Given the description of an element on the screen output the (x, y) to click on. 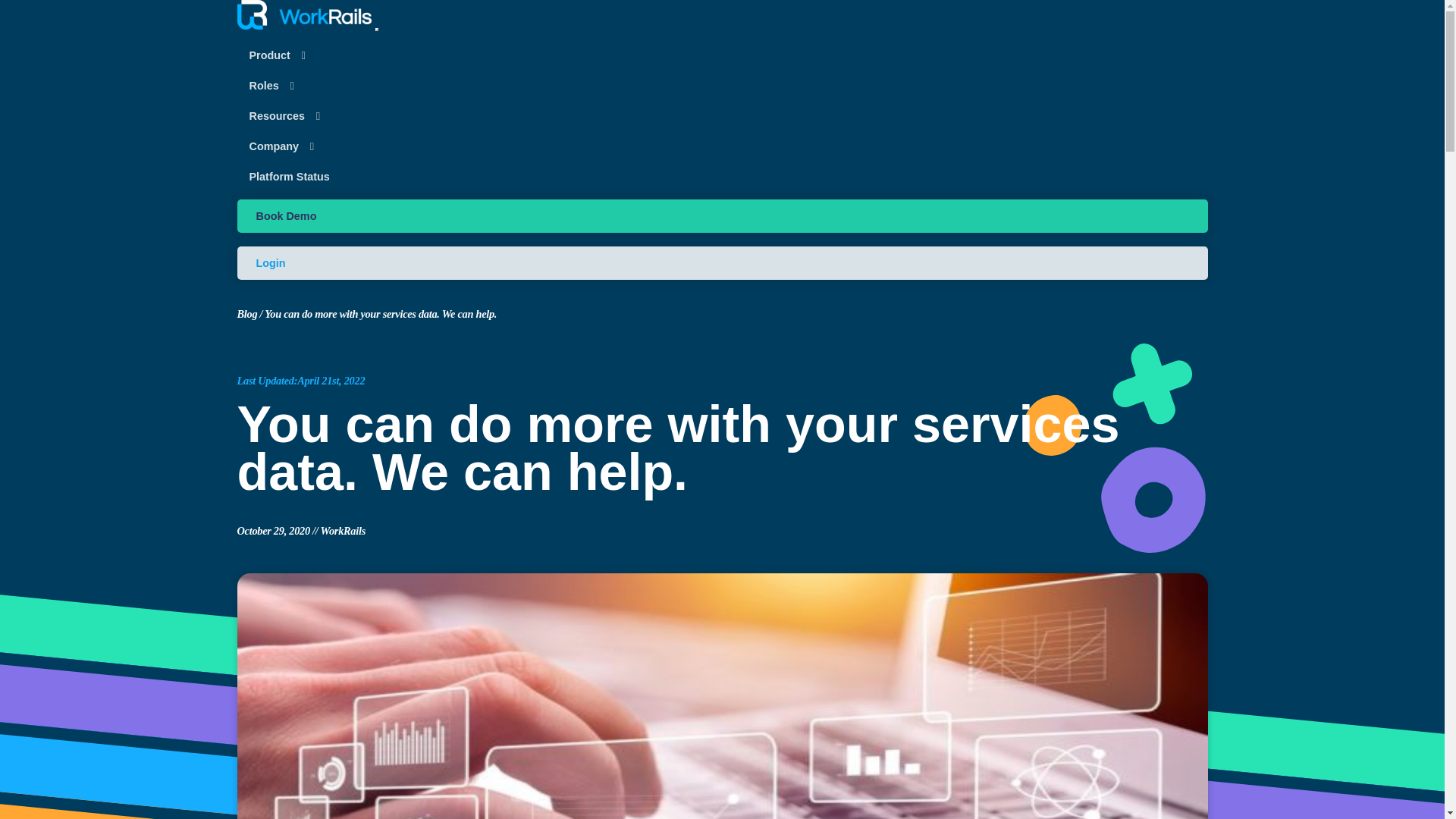
Resources (289, 116)
Blog (247, 313)
Login (721, 263)
Platform Status (288, 176)
Company (286, 146)
Roles (276, 86)
Product (281, 55)
Book Demo (721, 215)
